Given the description of an element on the screen output the (x, y) to click on. 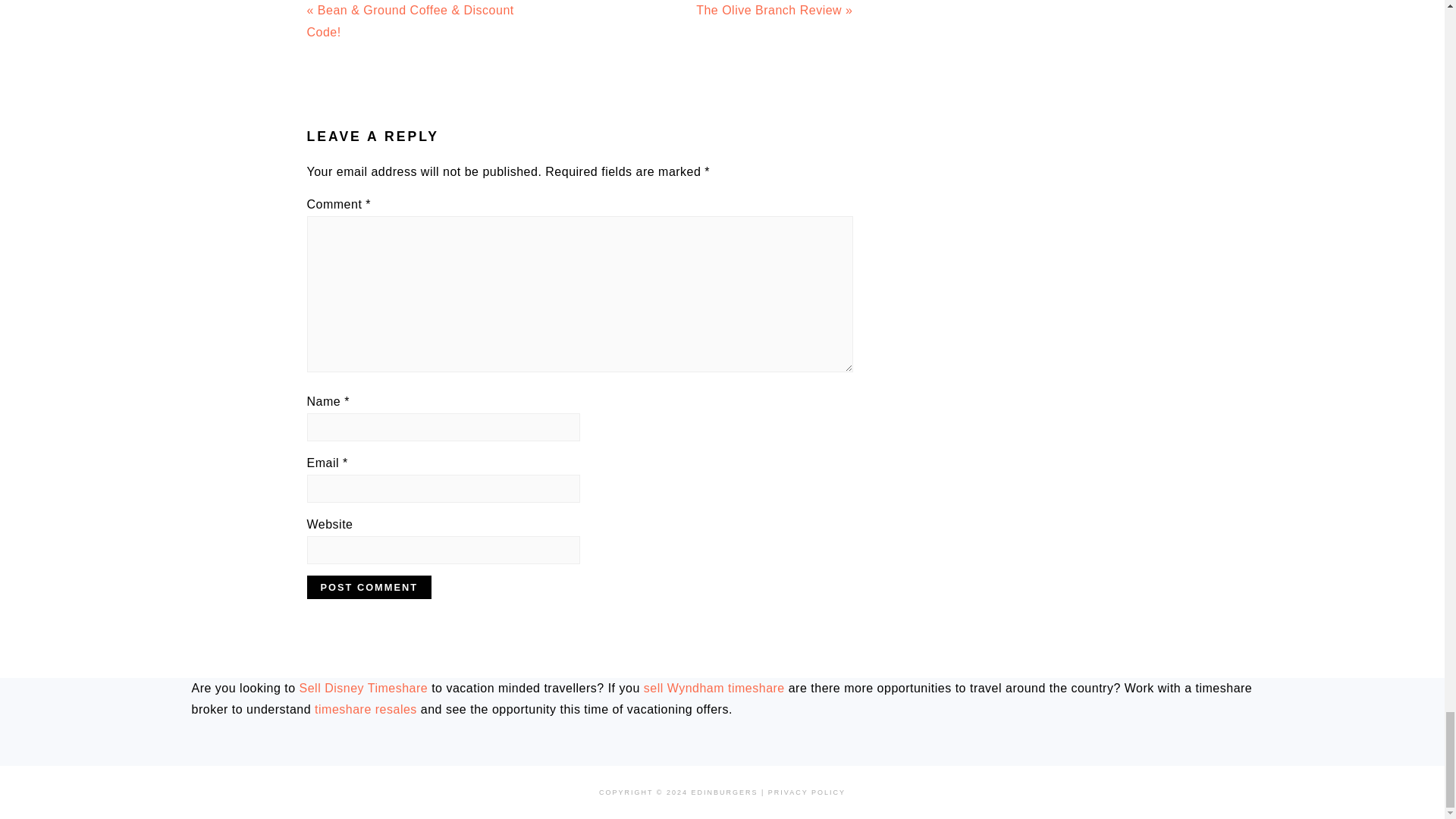
Post Comment (367, 586)
Post Comment (367, 586)
